Given the description of an element on the screen output the (x, y) to click on. 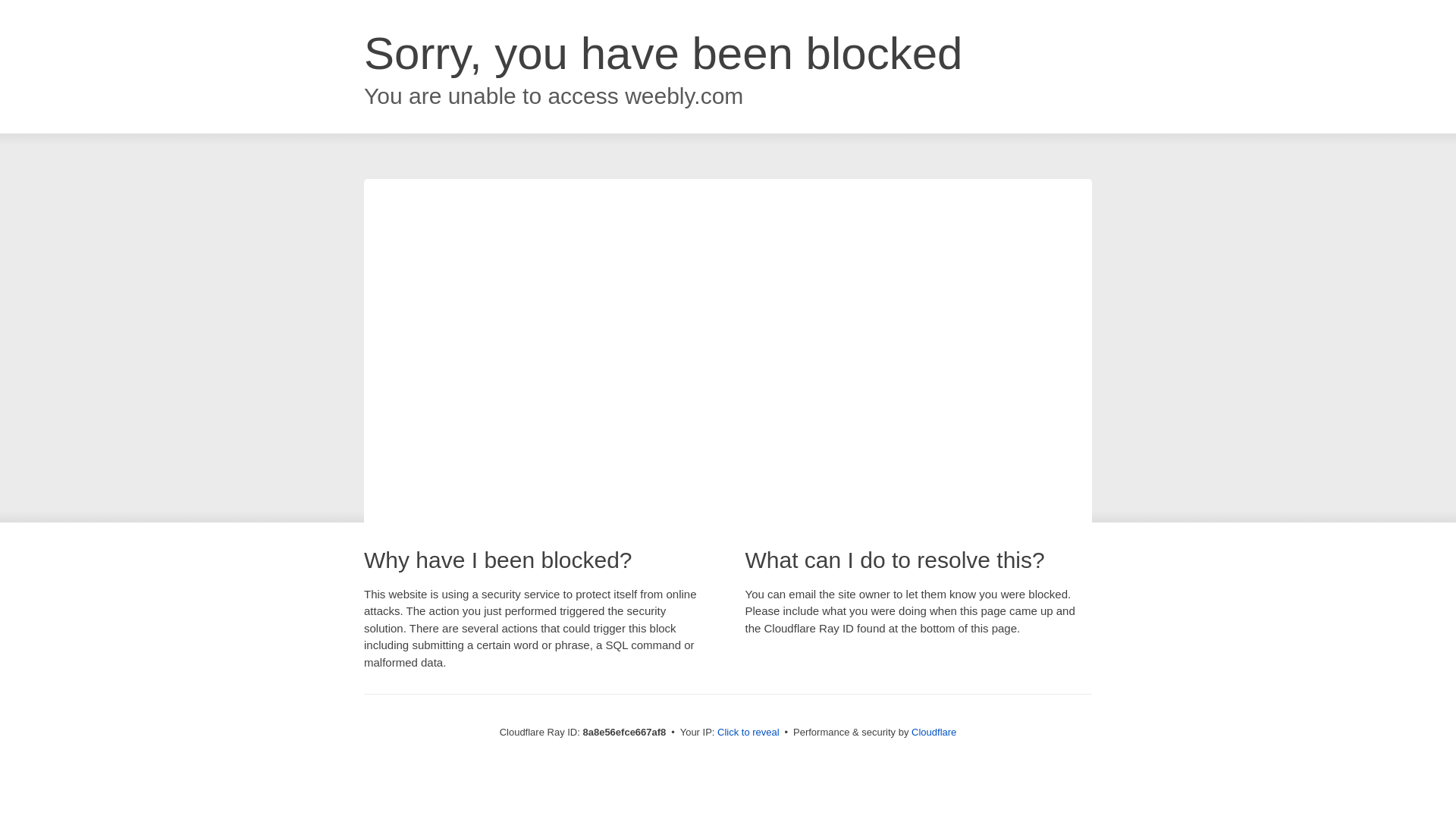
Cloudflare (933, 731)
Click to reveal (747, 732)
